Given the description of an element on the screen output the (x, y) to click on. 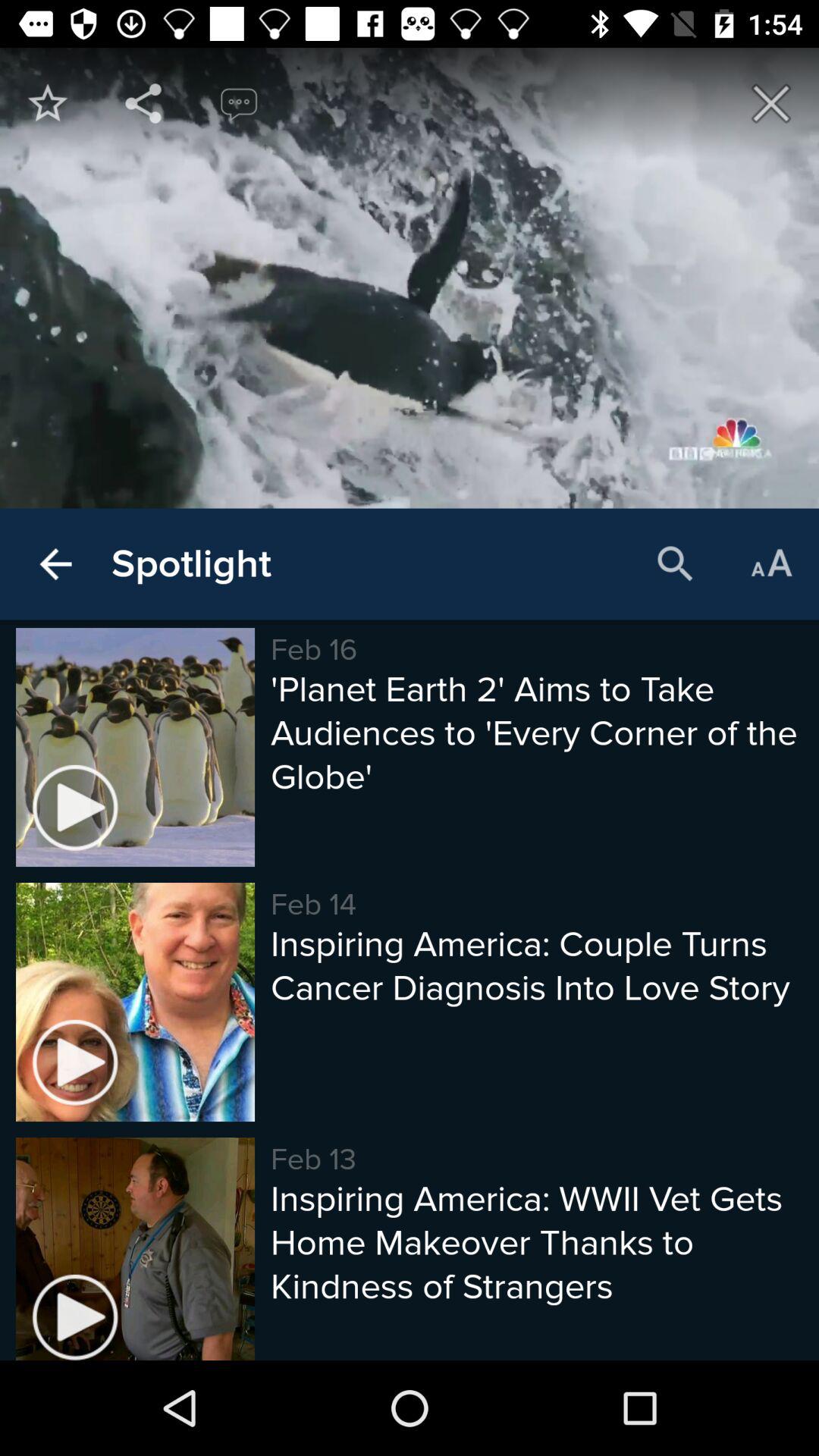
turn on icon at the top right corner (771, 103)
